Given the description of an element on the screen output the (x, y) to click on. 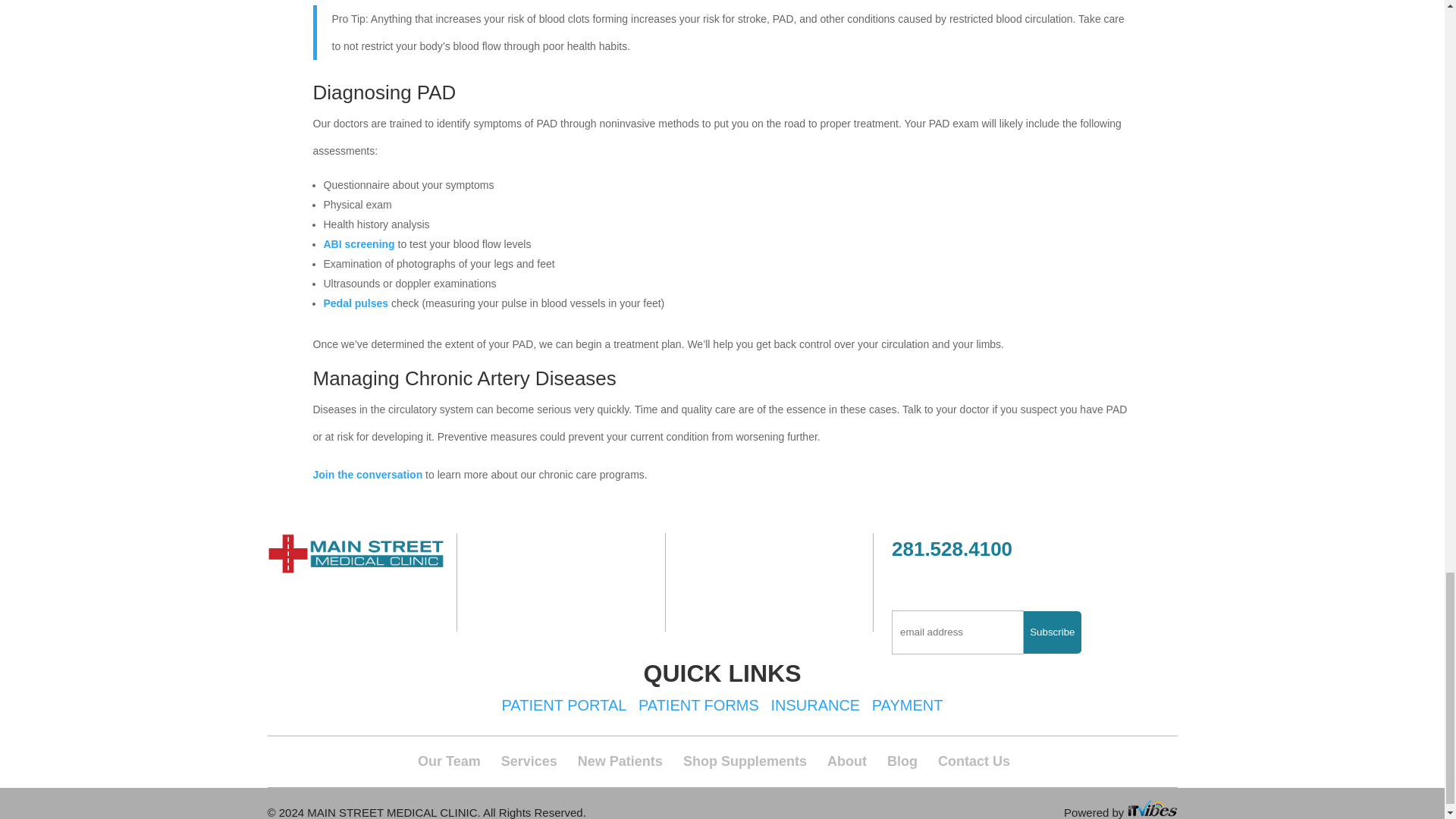
Subscribe (1051, 631)
itvibes (1151, 811)
ITVibes (1151, 807)
